Given the description of an element on the screen output the (x, y) to click on. 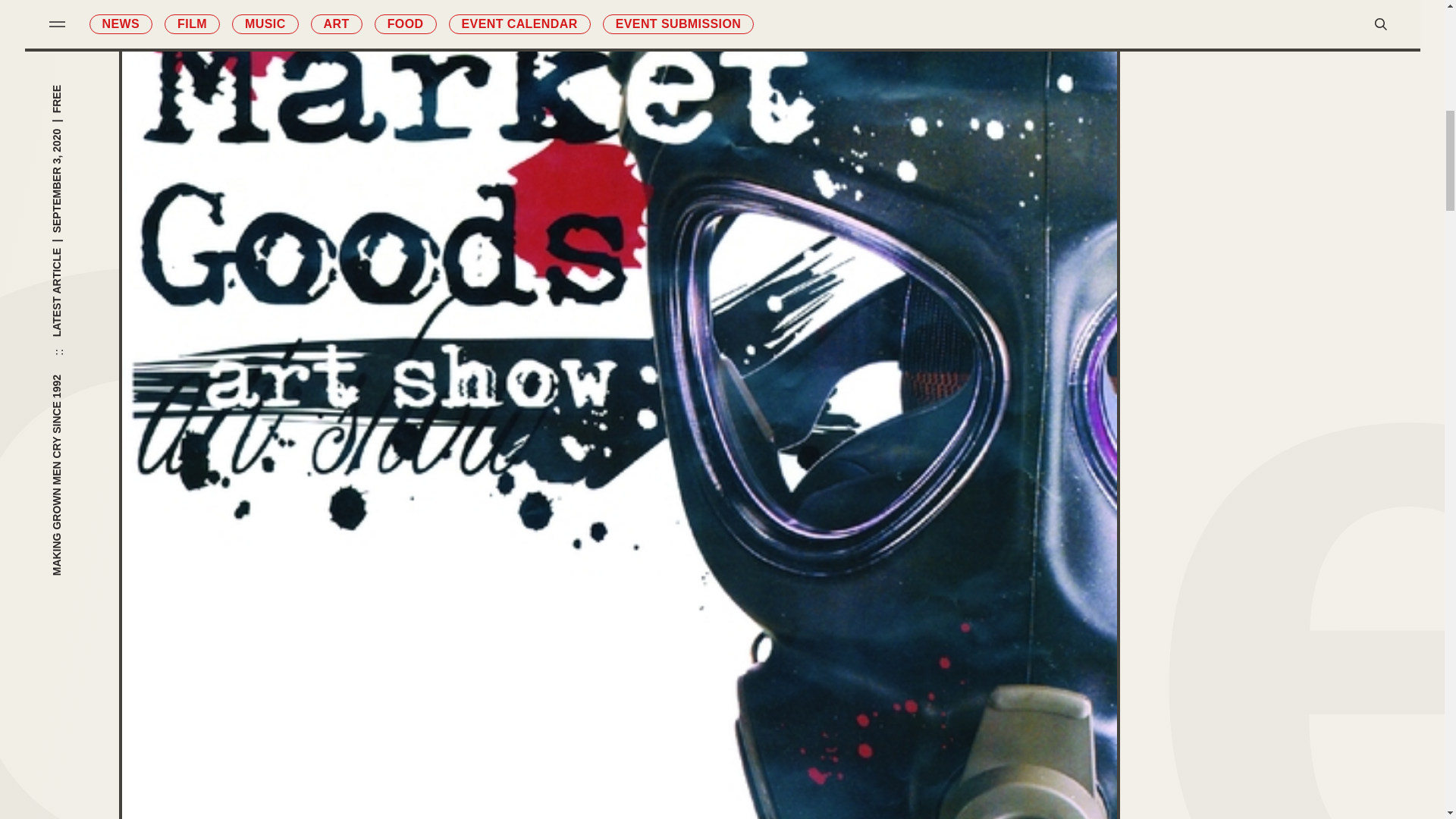
Advertisement (1280, 227)
